Given the description of an element on the screen output the (x, y) to click on. 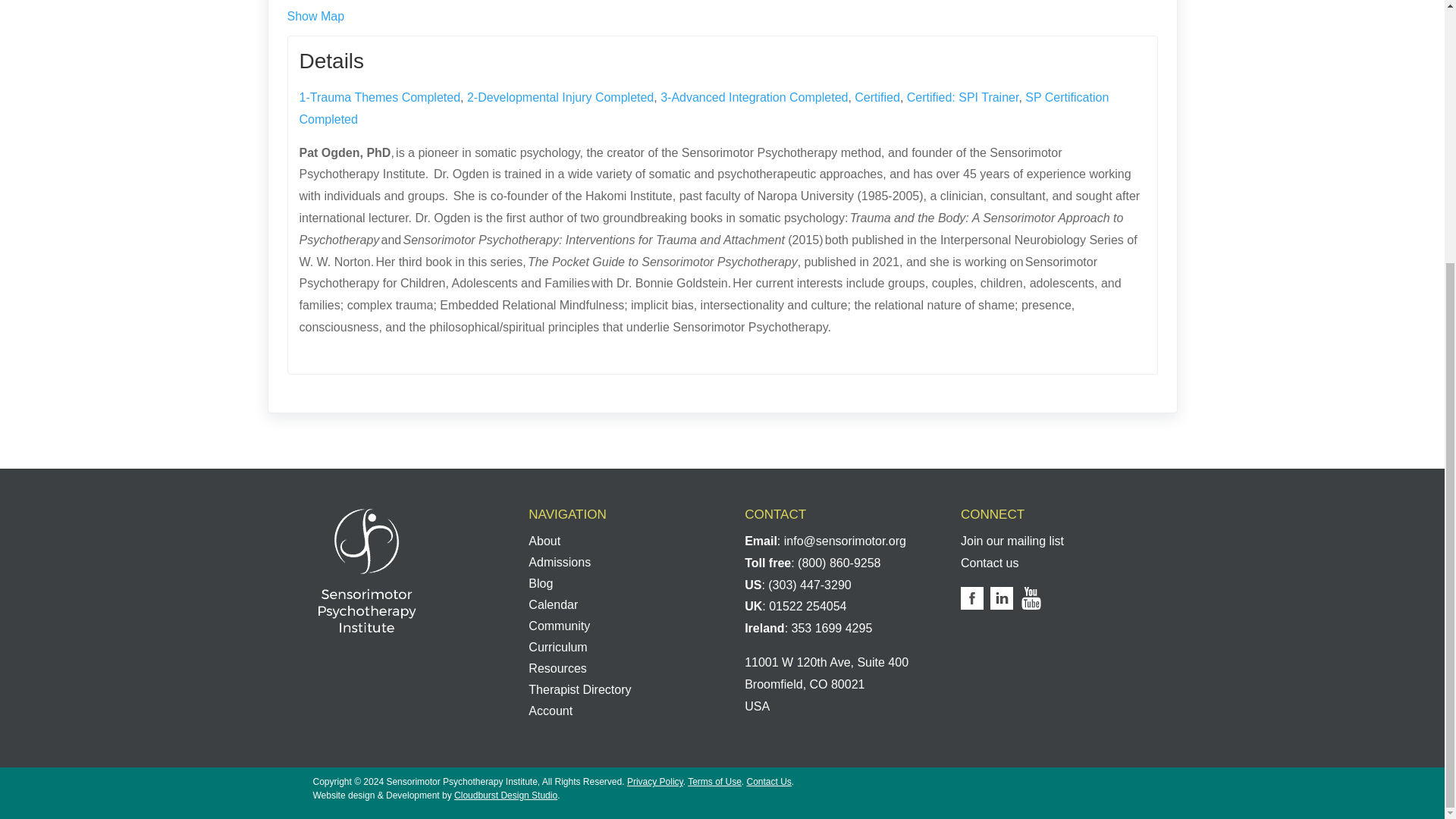
Show Map (314, 15)
1-Trauma Themes Completed (379, 97)
2-Developmental Injury Completed (560, 97)
